Given the description of an element on the screen output the (x, y) to click on. 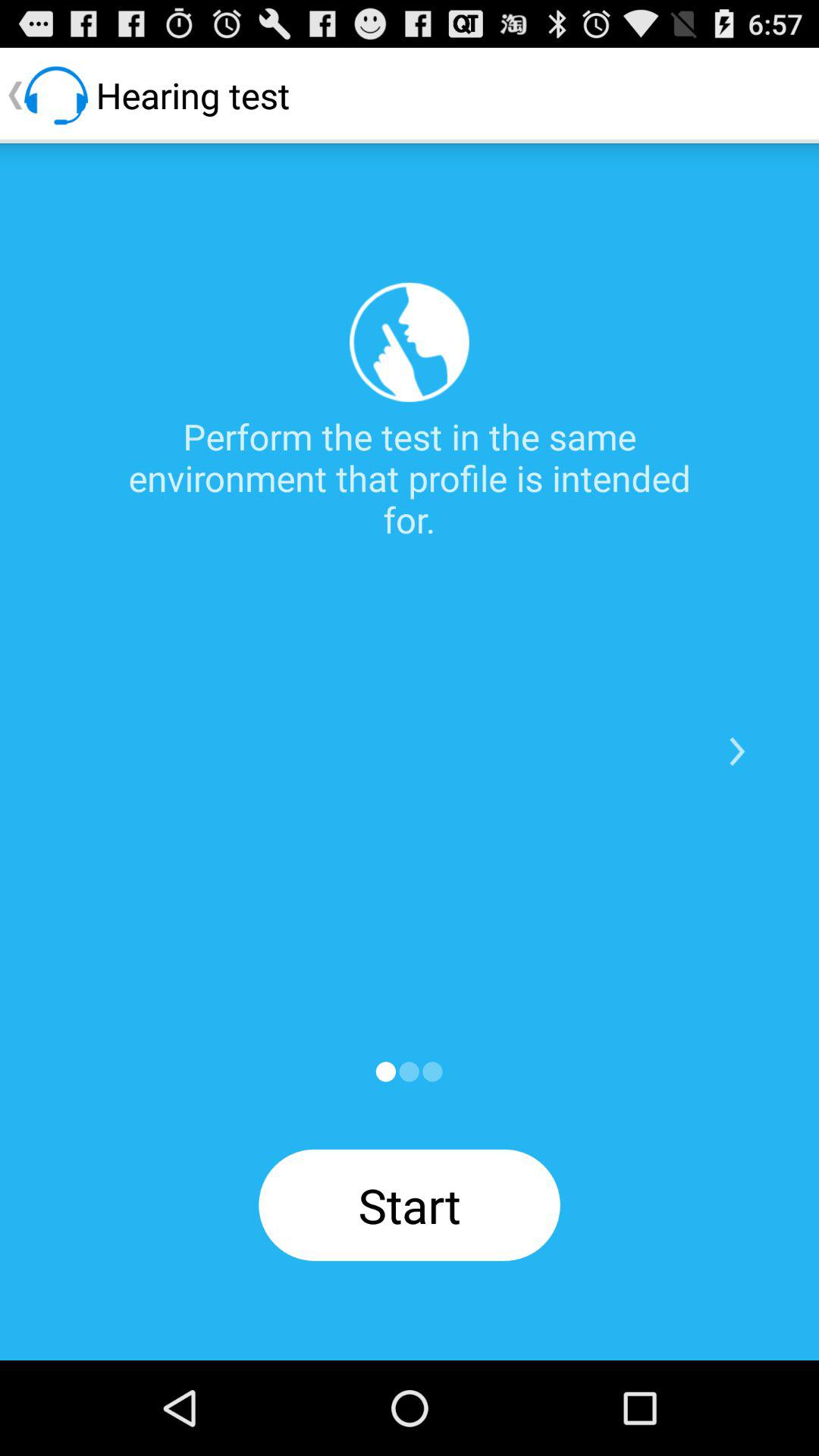
toggle a select option (385, 1071)
